Given the description of an element on the screen output the (x, y) to click on. 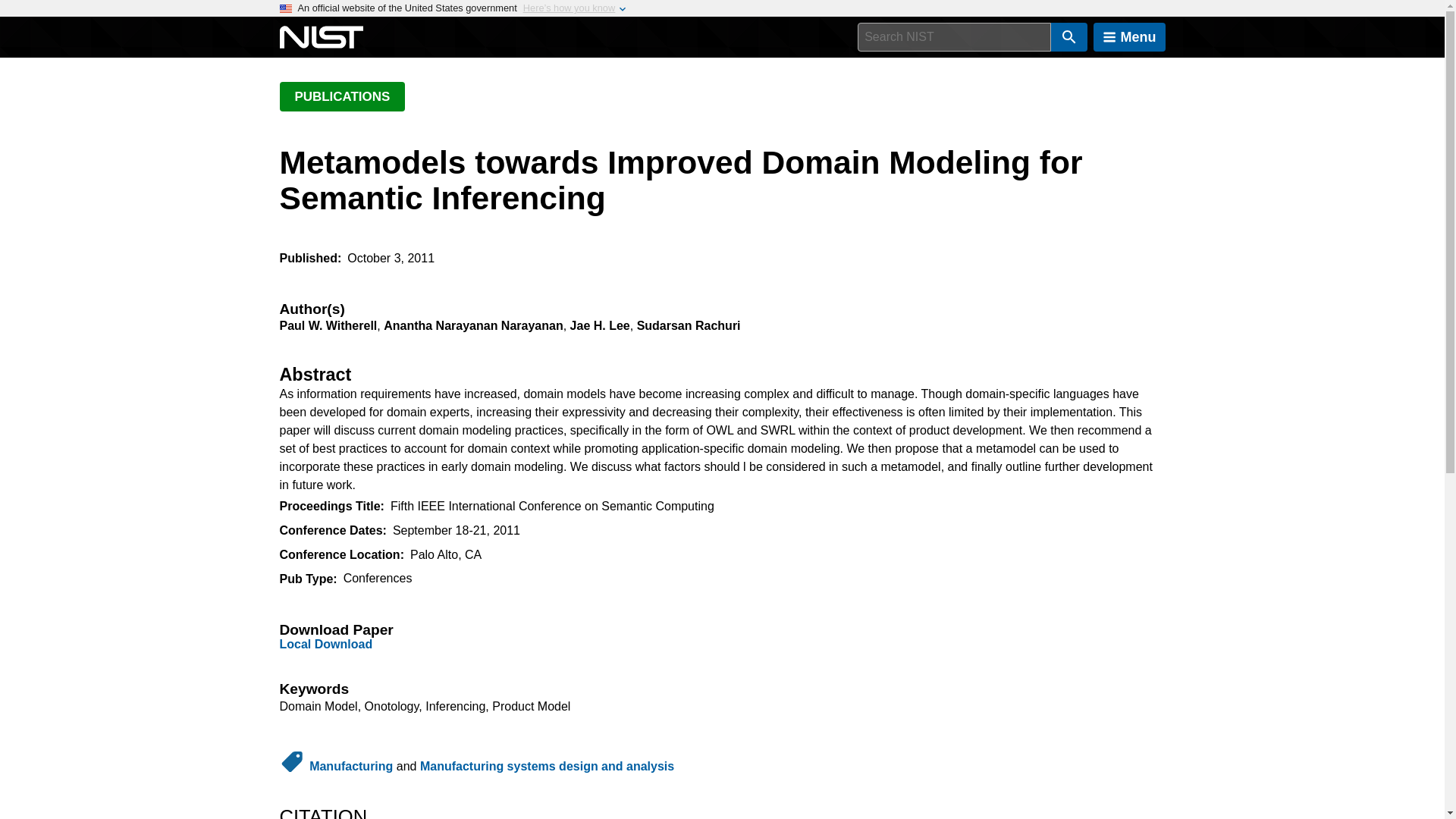
Manufacturing systems design and analysis (547, 766)
Local Download (325, 644)
Menu (1129, 36)
PUBLICATIONS (341, 96)
National Institute of Standards and Technology (320, 36)
Manufacturing (350, 766)
